Given the description of an element on the screen output the (x, y) to click on. 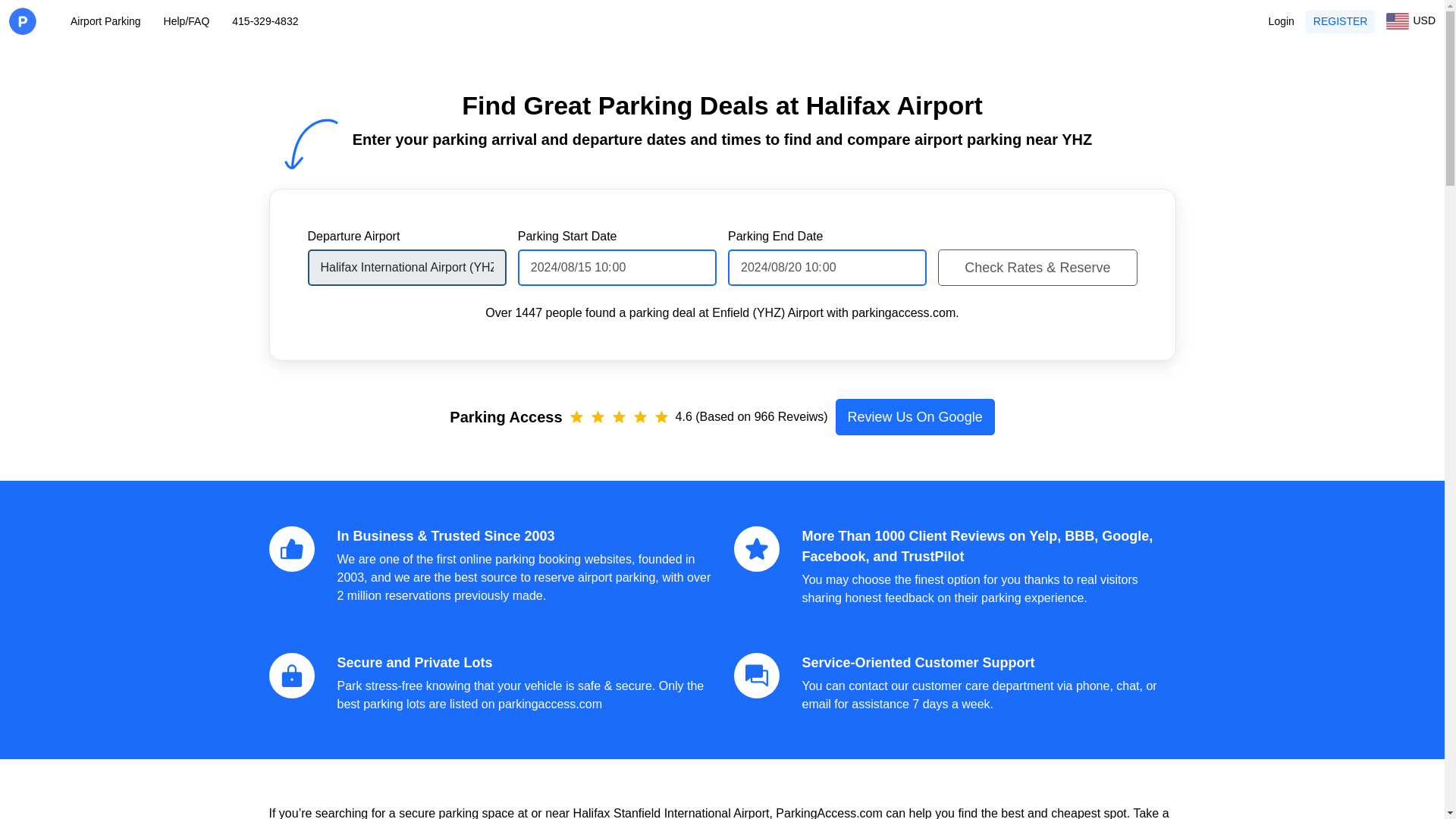
2024-08-20T10:00 (827, 267)
REGISTER (1340, 20)
Login (1281, 21)
Airport Parking (105, 21)
USD (1410, 21)
415-329-4832 (264, 21)
2024-08-15T10:00 (617, 267)
